Given the description of an element on the screen output the (x, y) to click on. 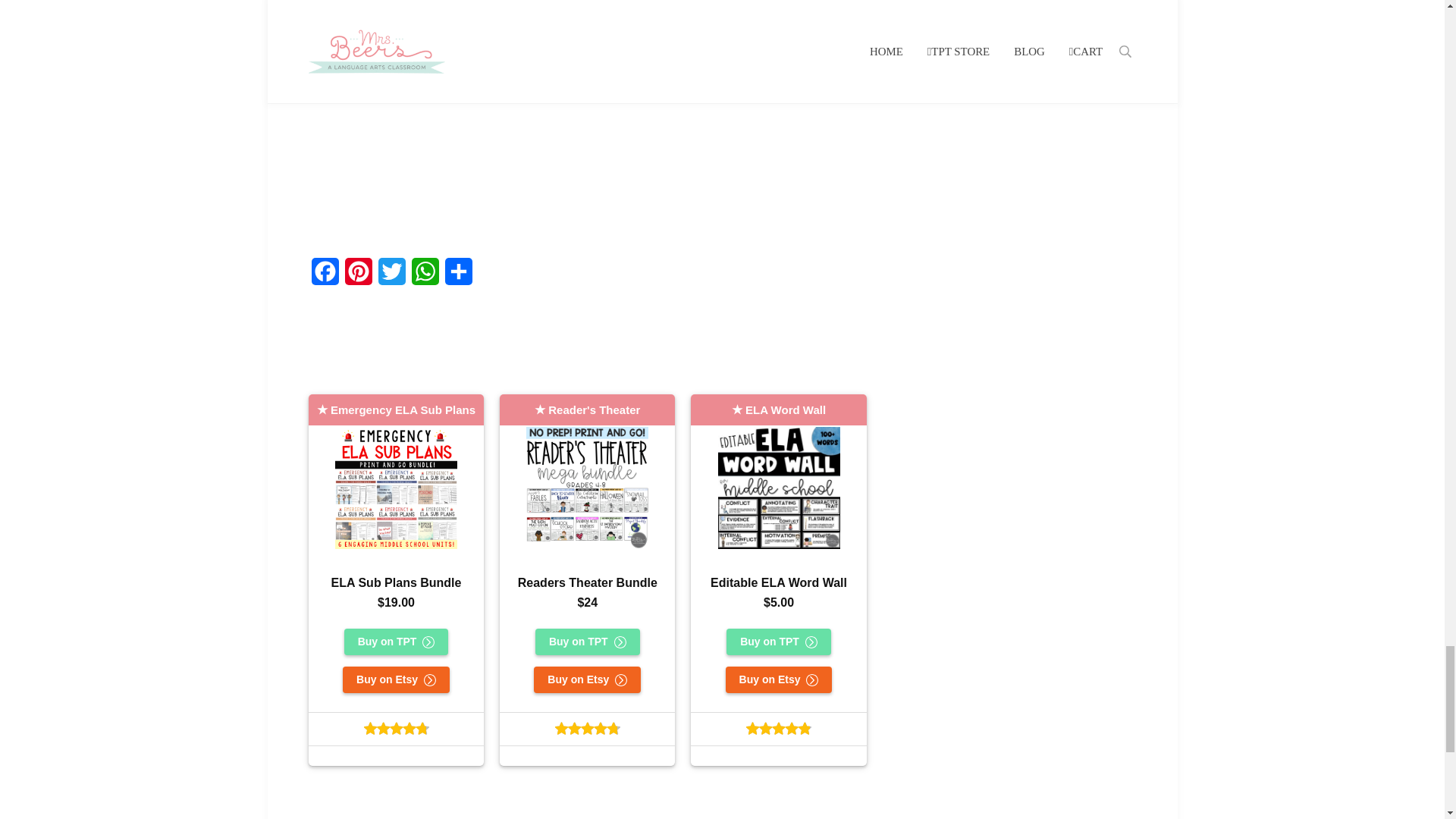
Buy on TPT (778, 641)
Facebook (325, 275)
WhatsApp (425, 275)
Buy on Etsy (778, 679)
Twitter (392, 275)
Share (459, 275)
Facebook (325, 275)
Buy on TPT (395, 641)
Buy on Etsy (587, 679)
WhatsApp (425, 275)
Twitter (392, 275)
Buy on TPT (587, 641)
Pinterest (358, 275)
Pinterest (358, 275)
Buy on Etsy (395, 679)
